Given the description of an element on the screen output the (x, y) to click on. 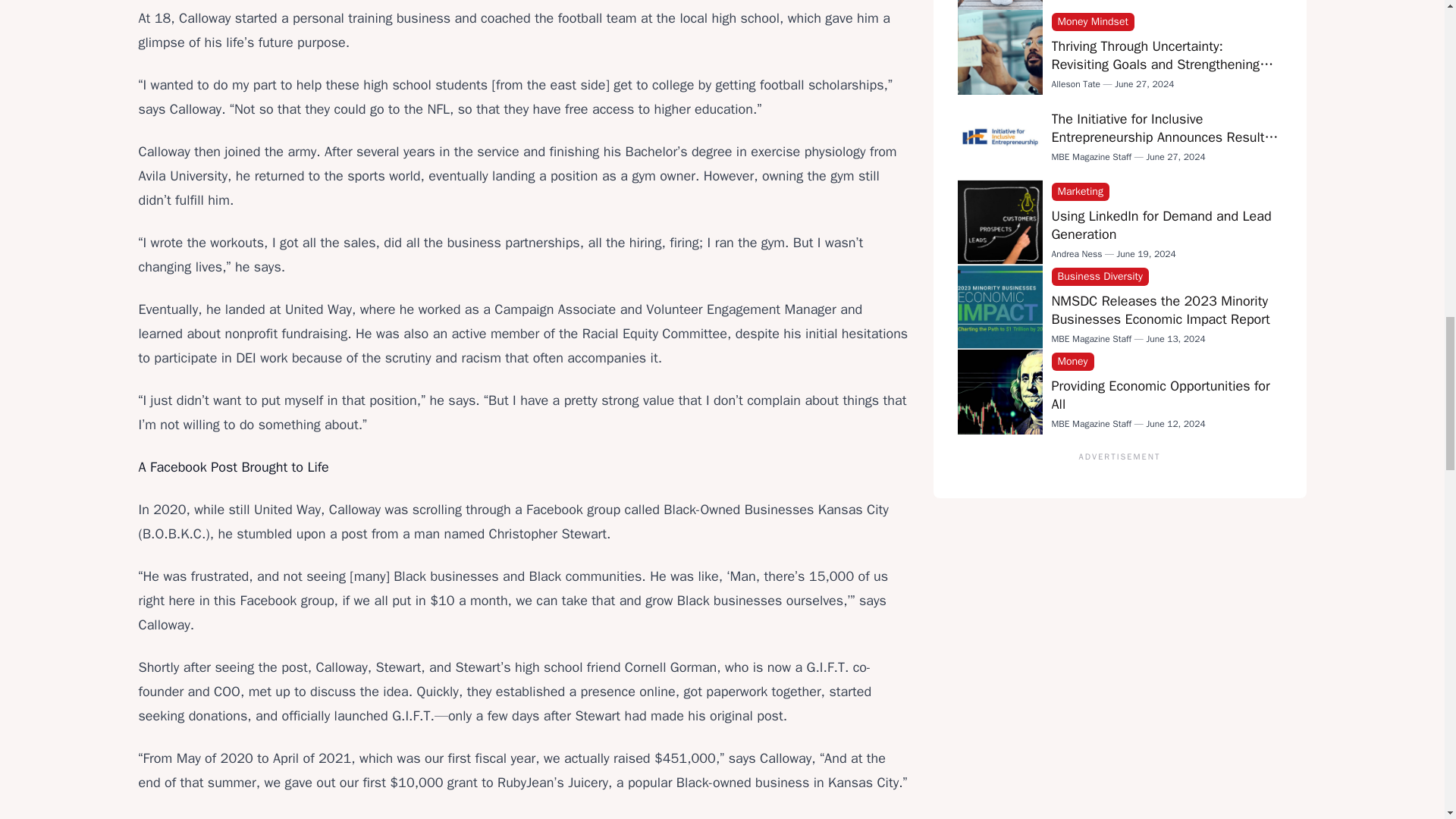
Using LinkedIn for Demand and Lead Generation (1161, 225)
Providing Economic Opportunities for All (1160, 394)
